Given the description of an element on the screen output the (x, y) to click on. 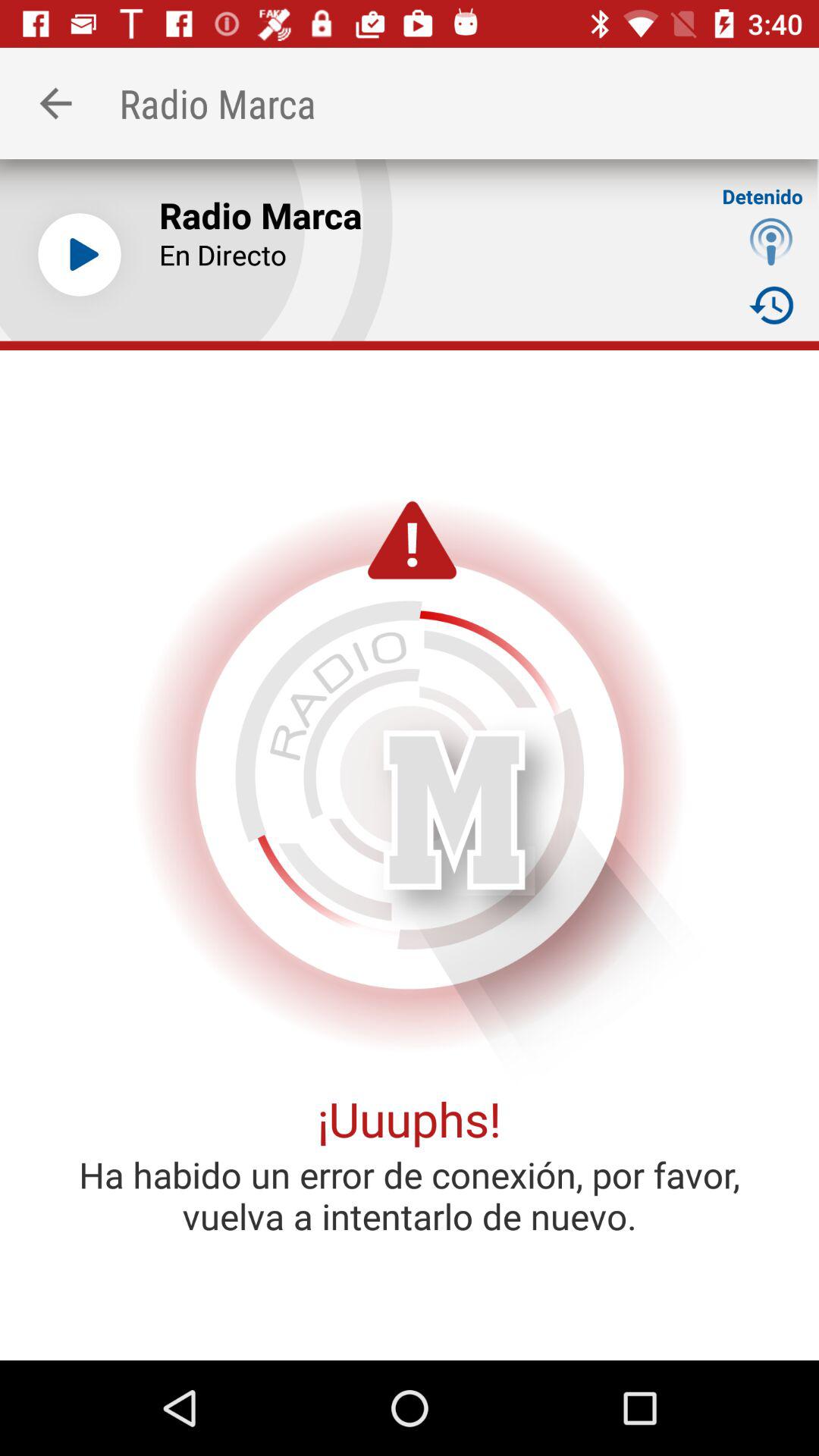
select the item next to the en directo (771, 305)
